Given the description of an element on the screen output the (x, y) to click on. 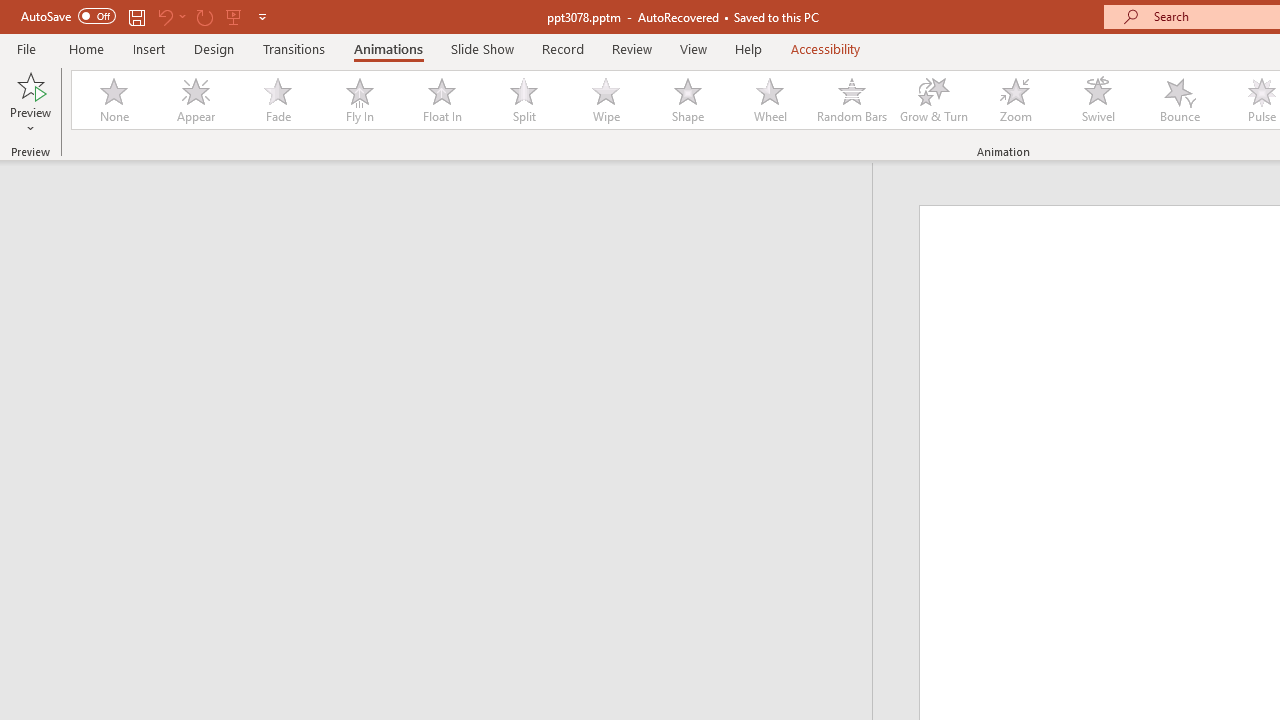
Split (523, 100)
Shape (687, 100)
Wheel (770, 100)
Outline (445, 202)
Appear (195, 100)
None (113, 100)
